Given the description of an element on the screen output the (x, y) to click on. 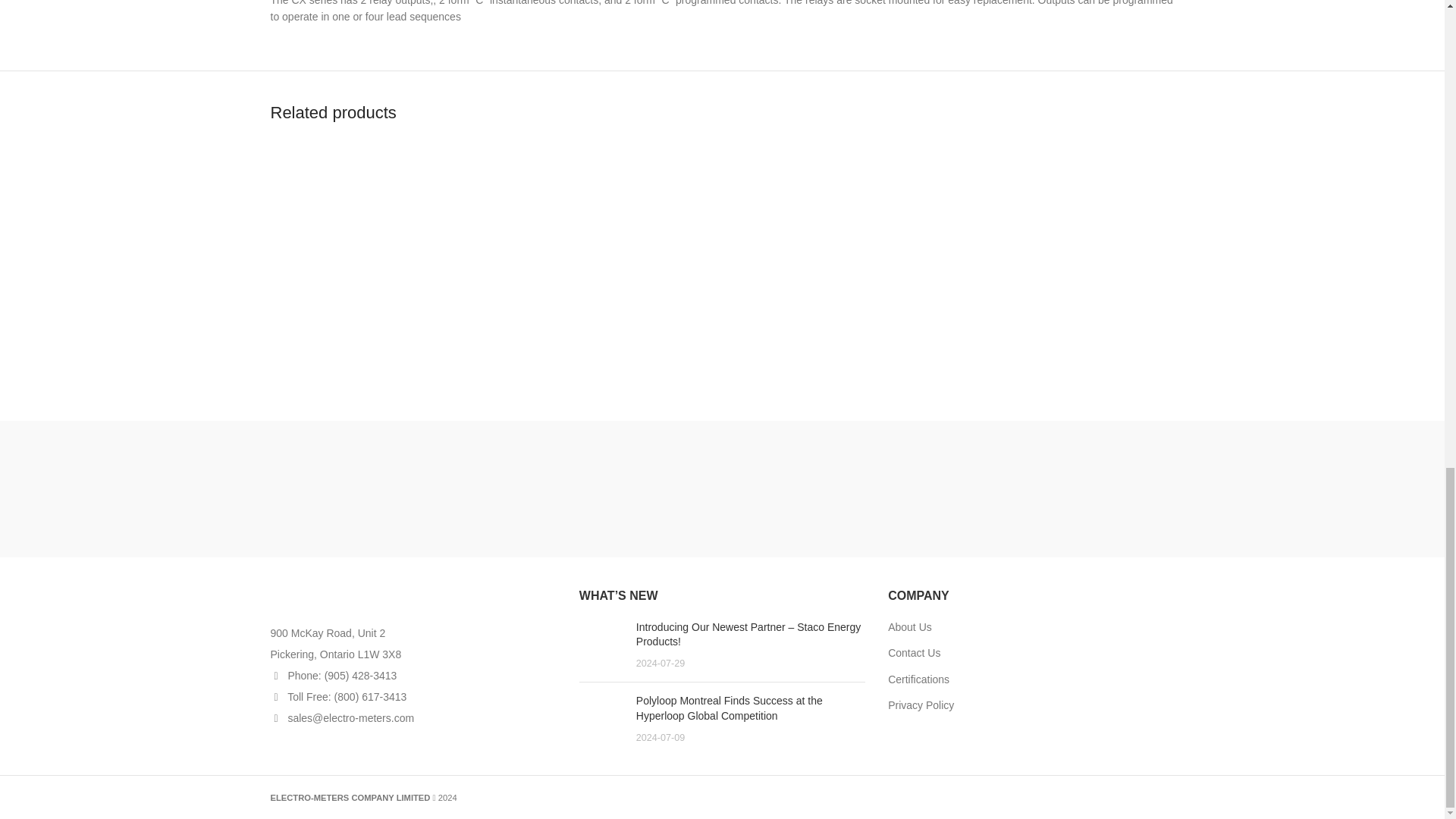
Bauser (1207, 488)
Marvin Test Solutions (600, 488)
Sifam Tinsley (843, 488)
Rigol Technologies Inc. (1086, 488)
ITECH (964, 488)
Yokogawa (358, 488)
Hoyt Electrical Instrument Works (479, 488)
Conax Technologies (722, 488)
